Given the description of an element on the screen output the (x, y) to click on. 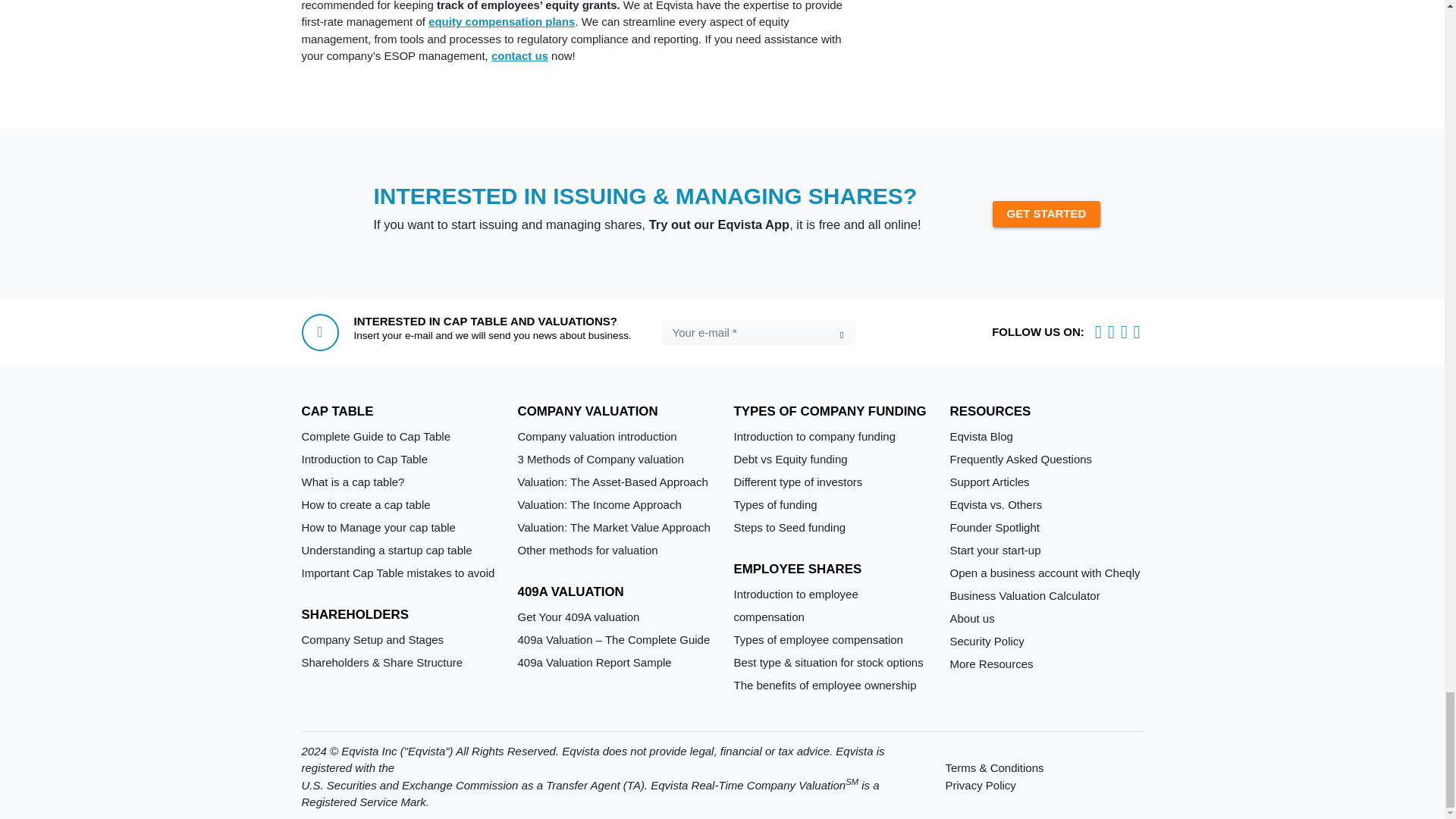
contact us (520, 55)
Your e-mail (757, 332)
equity compensation plans (501, 21)
Subscribe! (839, 334)
Subscribe! (839, 334)
GET STARTED (1046, 213)
